Given the description of an element on the screen output the (x, y) to click on. 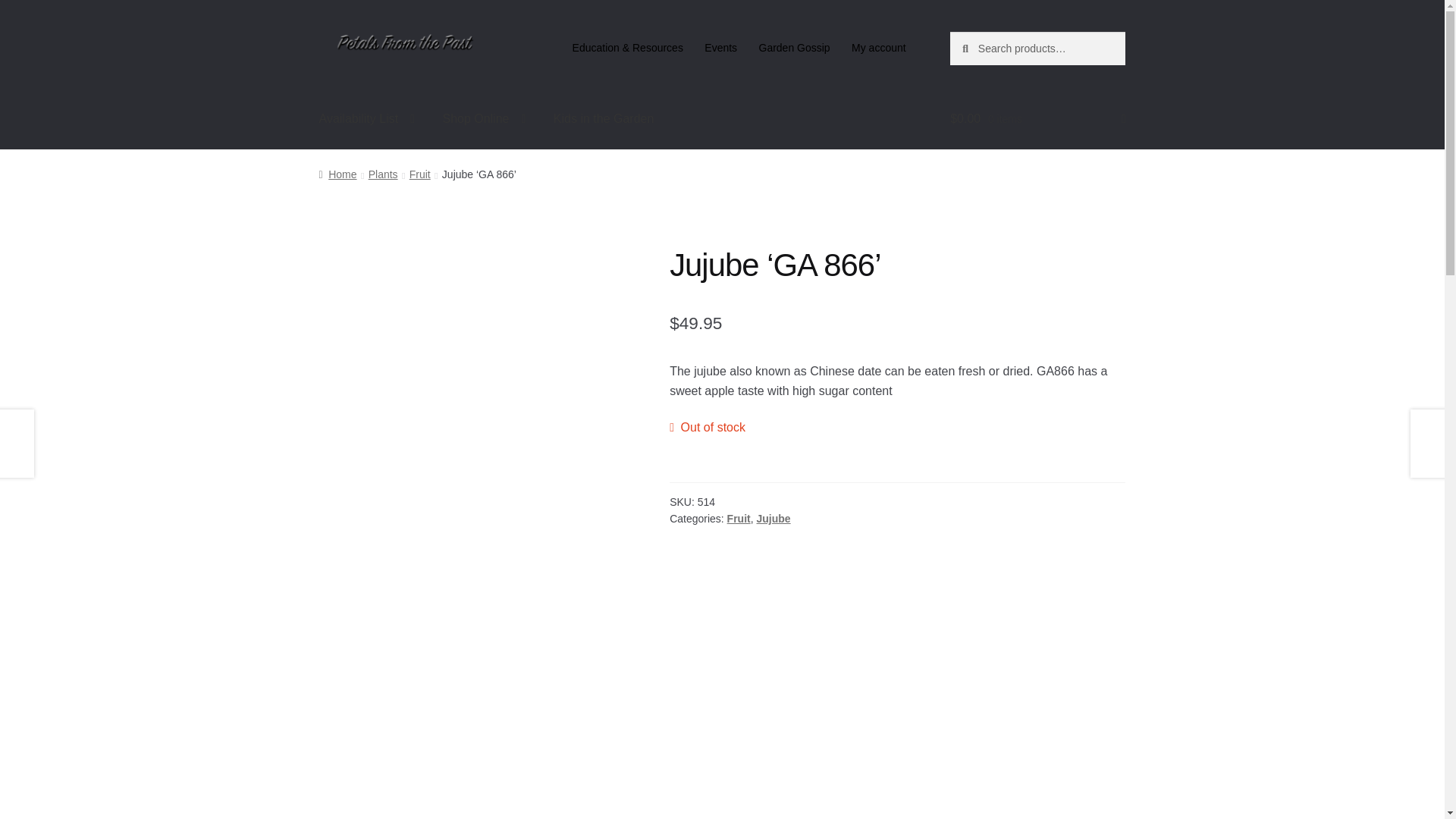
Availability List (366, 118)
Garden Gossip (794, 47)
My account (879, 47)
Shop Online (483, 118)
Events (720, 47)
View your shopping cart (1037, 118)
